Given the description of an element on the screen output the (x, y) to click on. 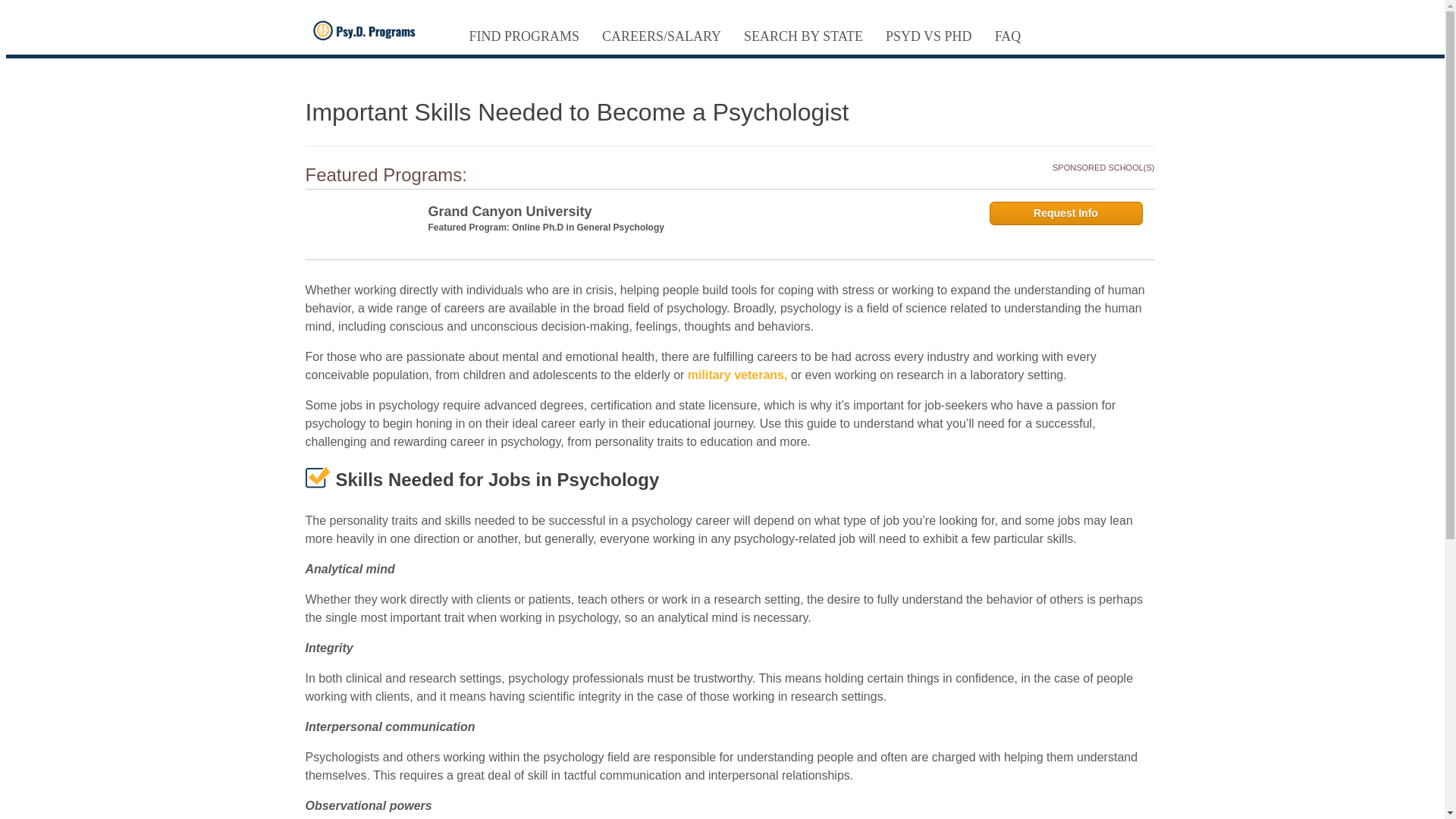
SEARCH BY STATE (803, 36)
Psy.D. Programs.org (368, 30)
FIND PROGRAMS (524, 36)
